Given the description of an element on the screen output the (x, y) to click on. 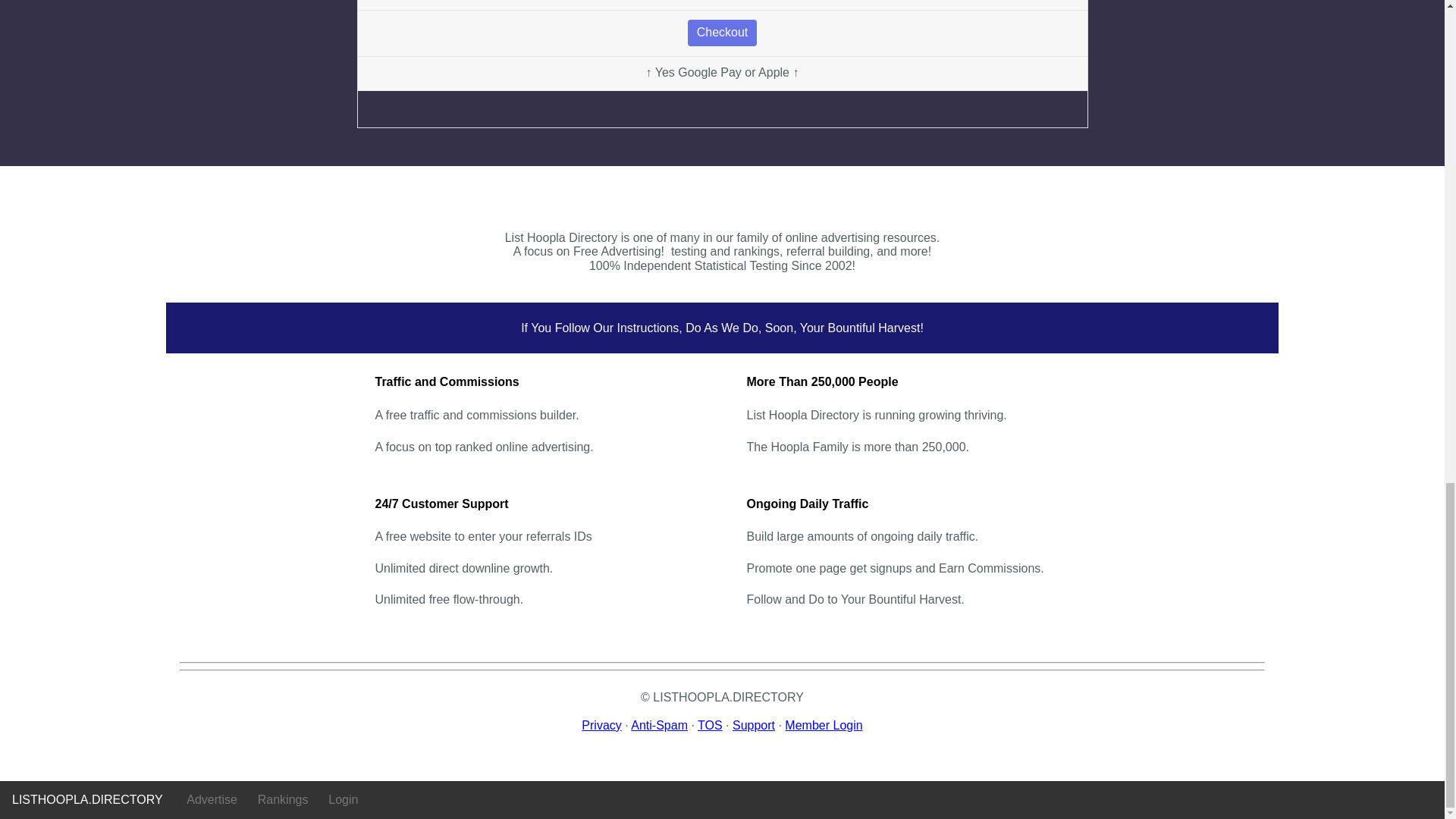
Member Login (822, 725)
Support (753, 725)
Anti-Spam (658, 725)
TOS (709, 725)
Checkout (722, 32)
Privacy (600, 725)
